Given the description of an element on the screen output the (x, y) to click on. 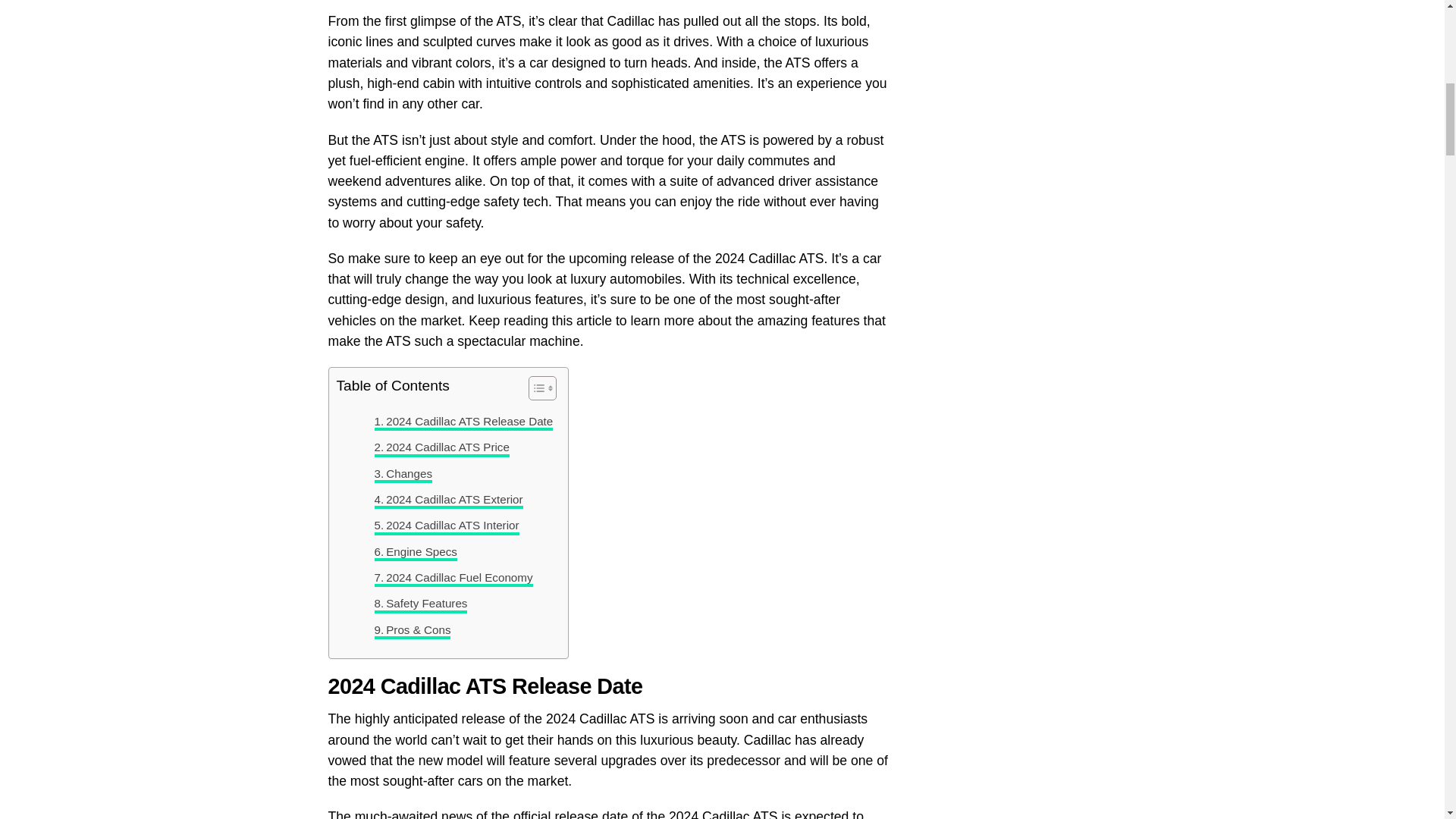
Engine Specs (415, 551)
2024 Cadillac Fuel Economy (453, 577)
Safety Features (420, 603)
Safety Features (420, 603)
2024 Cadillac ATS Interior (446, 525)
2024 Cadillac Fuel Economy (453, 577)
2024 Cadillac ATS Release Date (463, 421)
2024 Cadillac ATS Price (441, 447)
Engine Specs (415, 551)
2024 Cadillac ATS Exterior (448, 499)
